Given the description of an element on the screen output the (x, y) to click on. 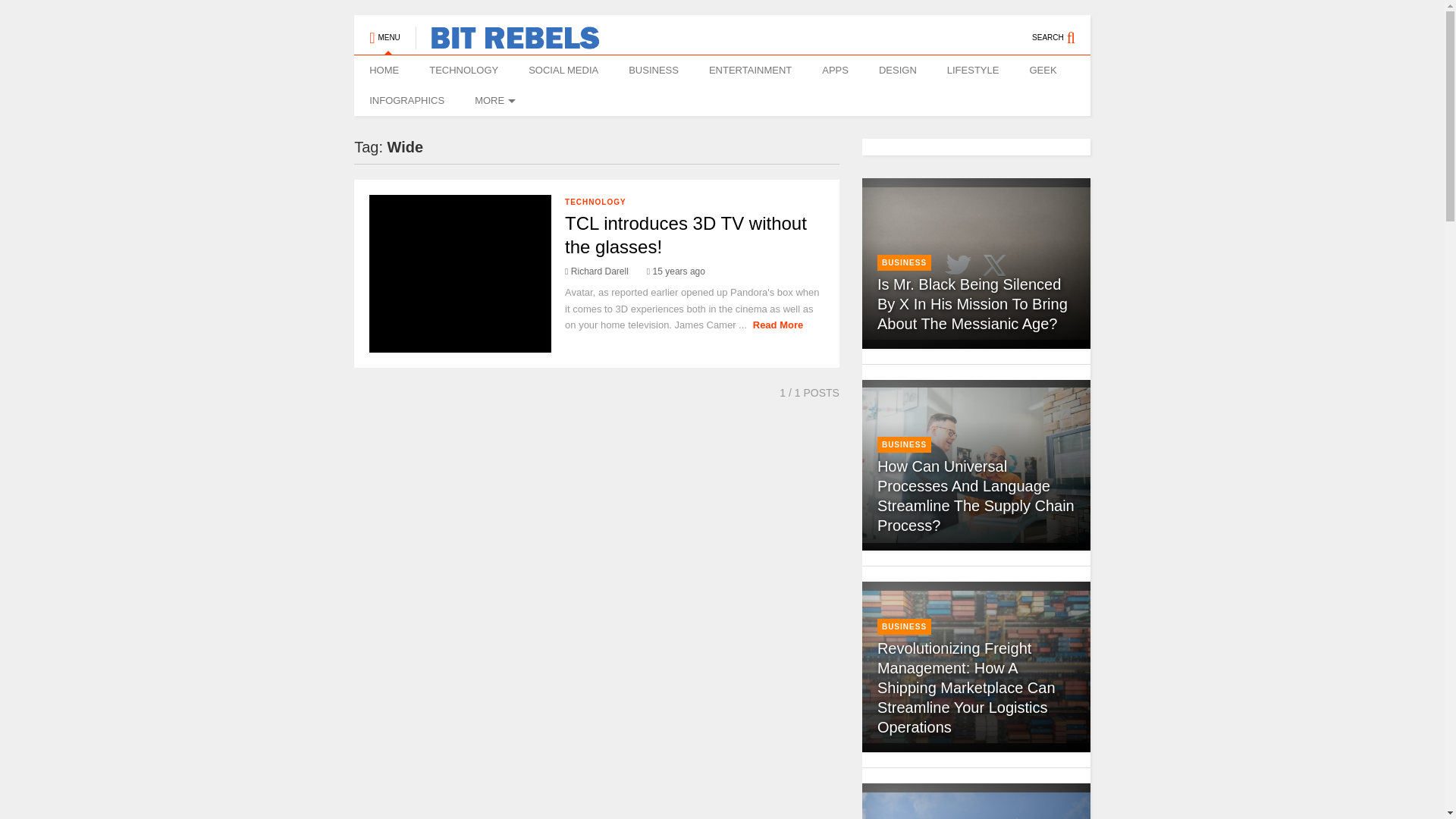
Richard Darell (596, 271)
Bit Rebels (506, 42)
DESIGN (897, 70)
ENTERTAINMENT (750, 70)
How To Get Your Record Expunged In Texas (975, 805)
TECHNOLOGY (463, 70)
